Given the description of an element on the screen output the (x, y) to click on. 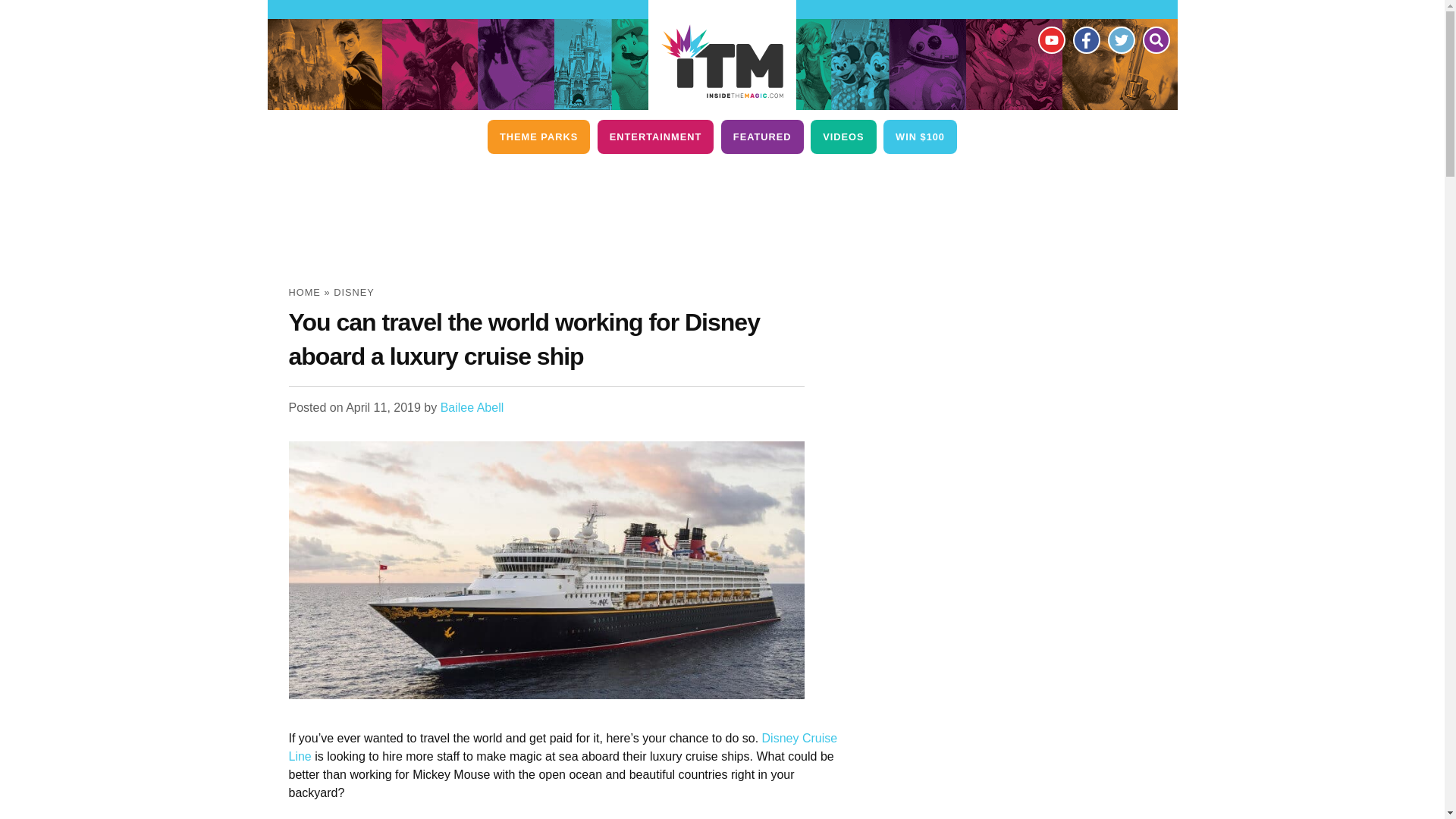
ENTERTAINMENT (655, 136)
THEME PARKS (538, 136)
FEATURED (761, 136)
YouTube (1050, 40)
Twitter (1120, 40)
Facebook (1085, 40)
Search (1155, 40)
